Given the description of an element on the screen output the (x, y) to click on. 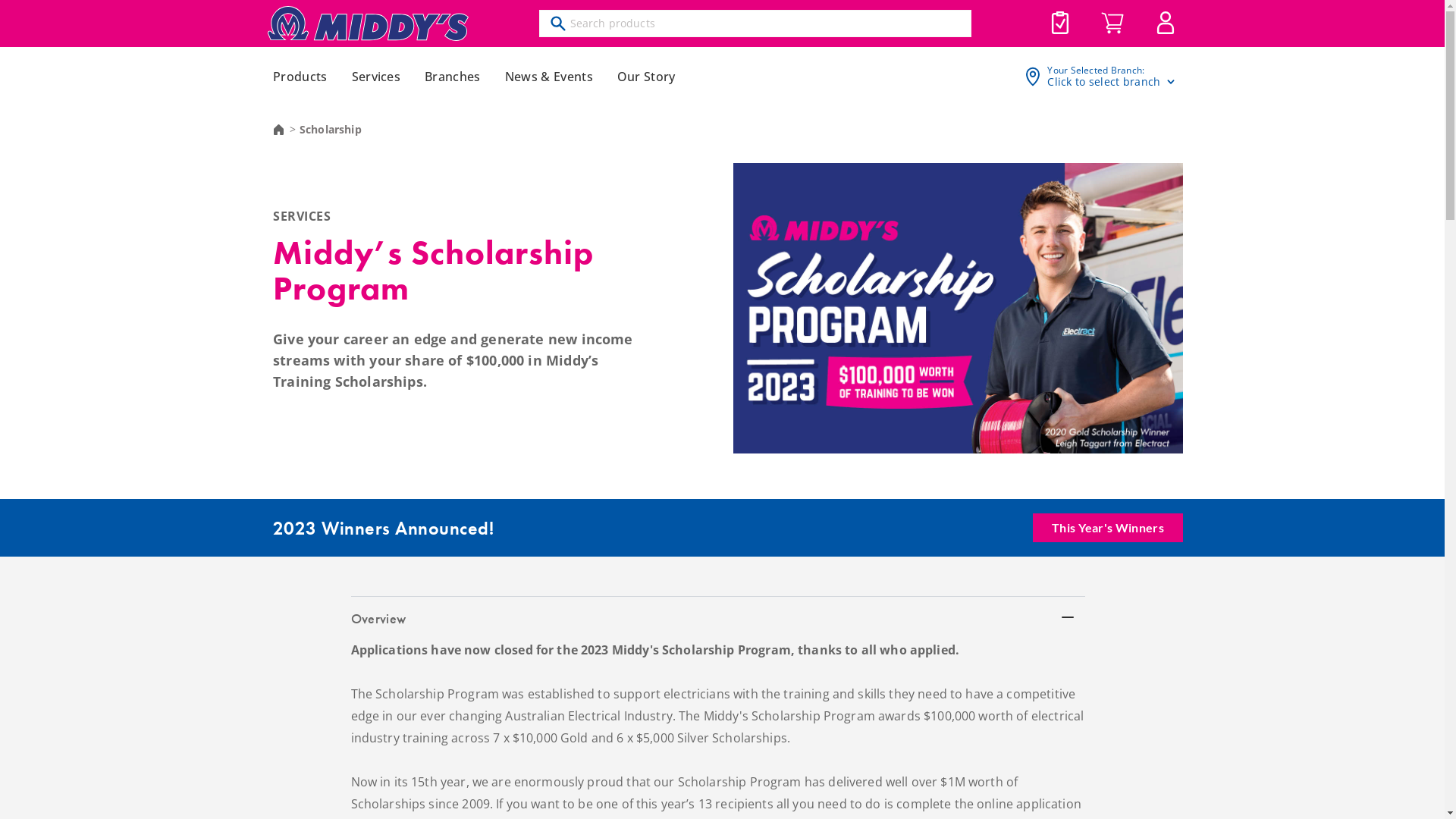
Our Story Element type: text (646, 76)
Bookmarks Element type: text (1060, 22)
User Element type: text (1164, 22)
Click to select branch Element type: text (1111, 81)
Cart Element type: text (1112, 23)
News & Events Element type: text (549, 76)
Services Element type: text (376, 76)
Products Element type: text (300, 76)
This Year's Winners Element type: text (1107, 527)
Branches Element type: text (452, 76)
